Given the description of an element on the screen output the (x, y) to click on. 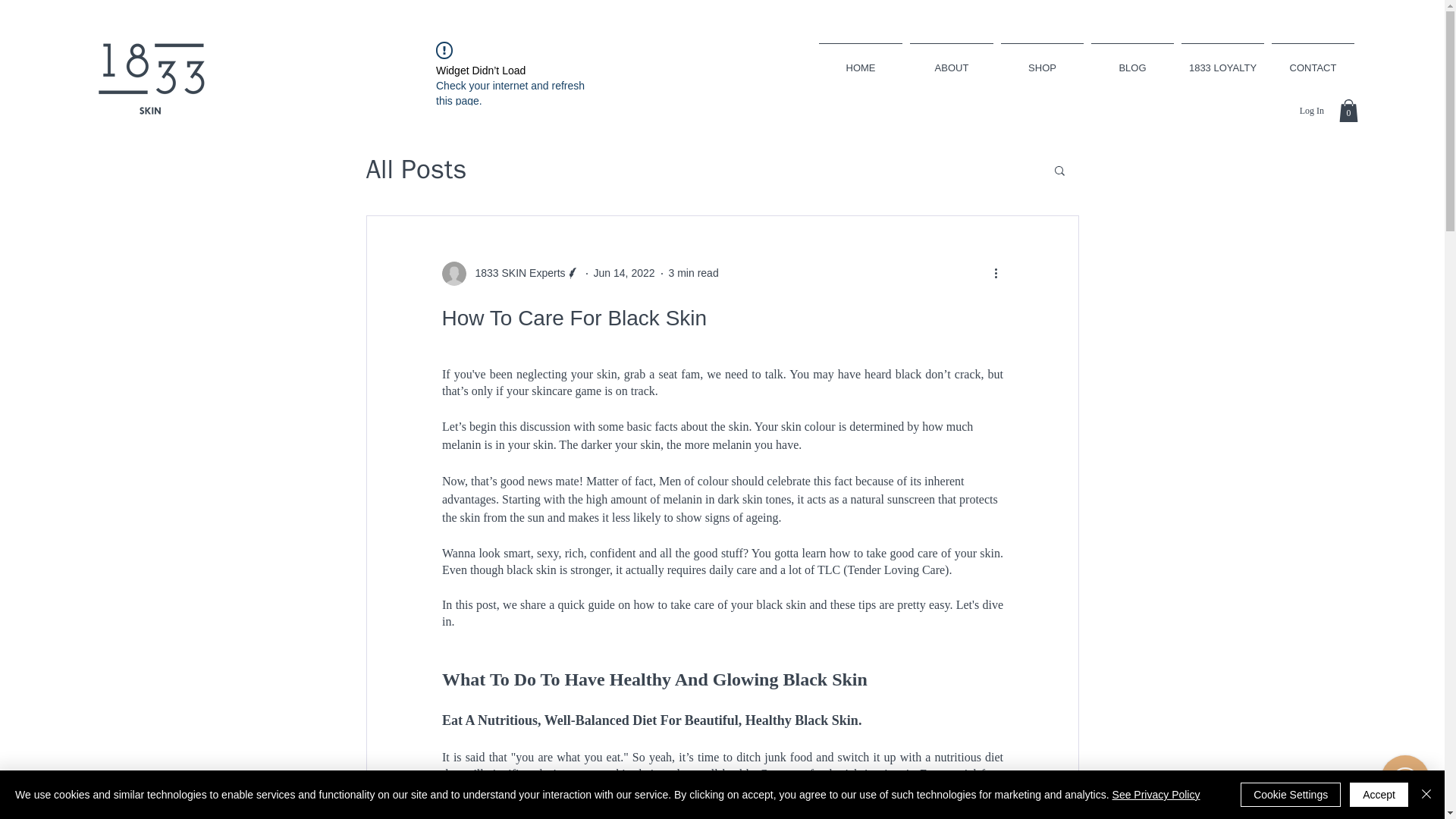
Jun 14, 2022 (624, 272)
All Posts (415, 169)
ABOUT (951, 61)
CONTACT (1313, 61)
1833 LOYALTY (1222, 61)
HOME (860, 61)
BLOG (1132, 61)
1833 SKIN Experts (514, 273)
3 min read (693, 272)
1833 SKIN Experts (510, 273)
Log In (1311, 110)
SHOP (1042, 61)
